Given the description of an element on the screen output the (x, y) to click on. 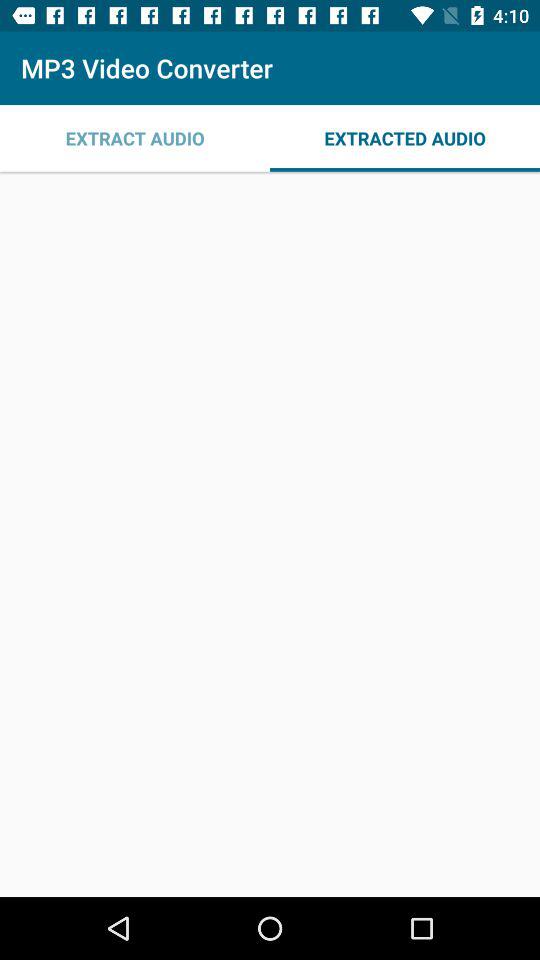
click the icon to the right of the extract audio app (405, 138)
